Given the description of an element on the screen output the (x, y) to click on. 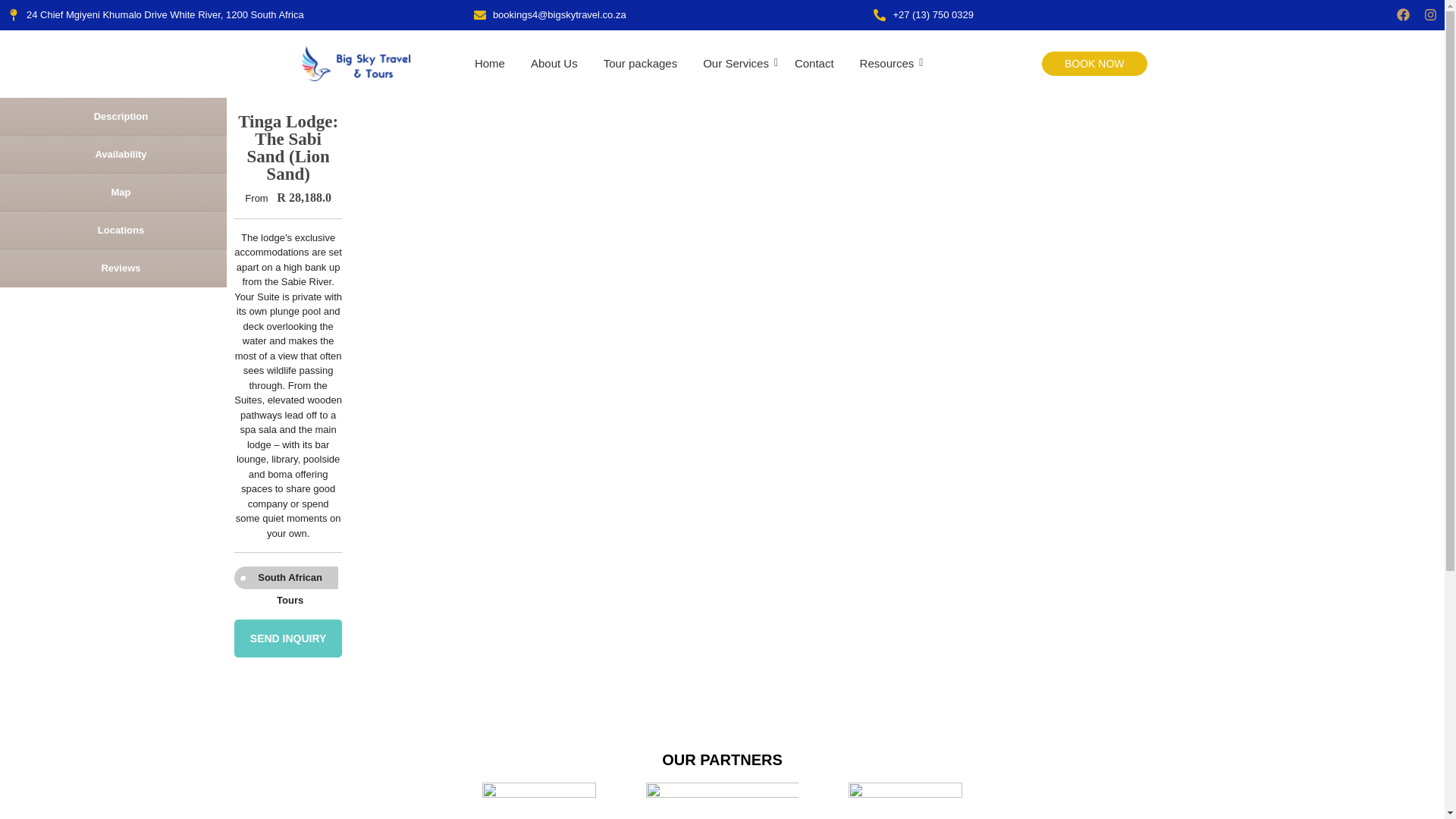
Reviews (113, 268)
About Us (554, 63)
Send inquiry (288, 638)
Description (113, 116)
Map (113, 191)
Home (489, 63)
BOOK NOW (1094, 63)
Tour packages (640, 63)
Availability (113, 153)
Resources (887, 63)
